Given the description of an element on the screen output the (x, y) to click on. 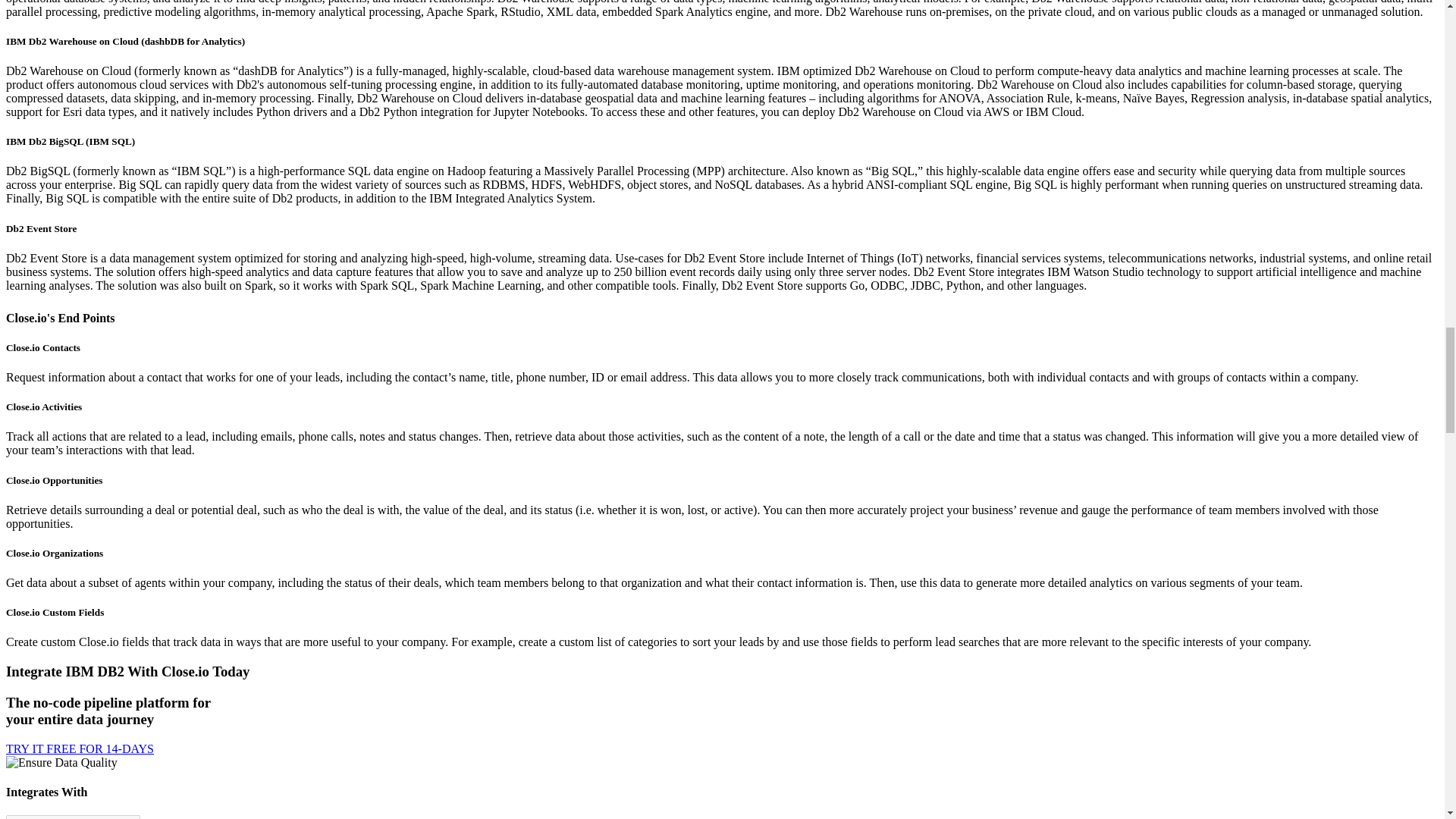
TRY IT FREE FOR 14-DAYS (79, 748)
